Given the description of an element on the screen output the (x, y) to click on. 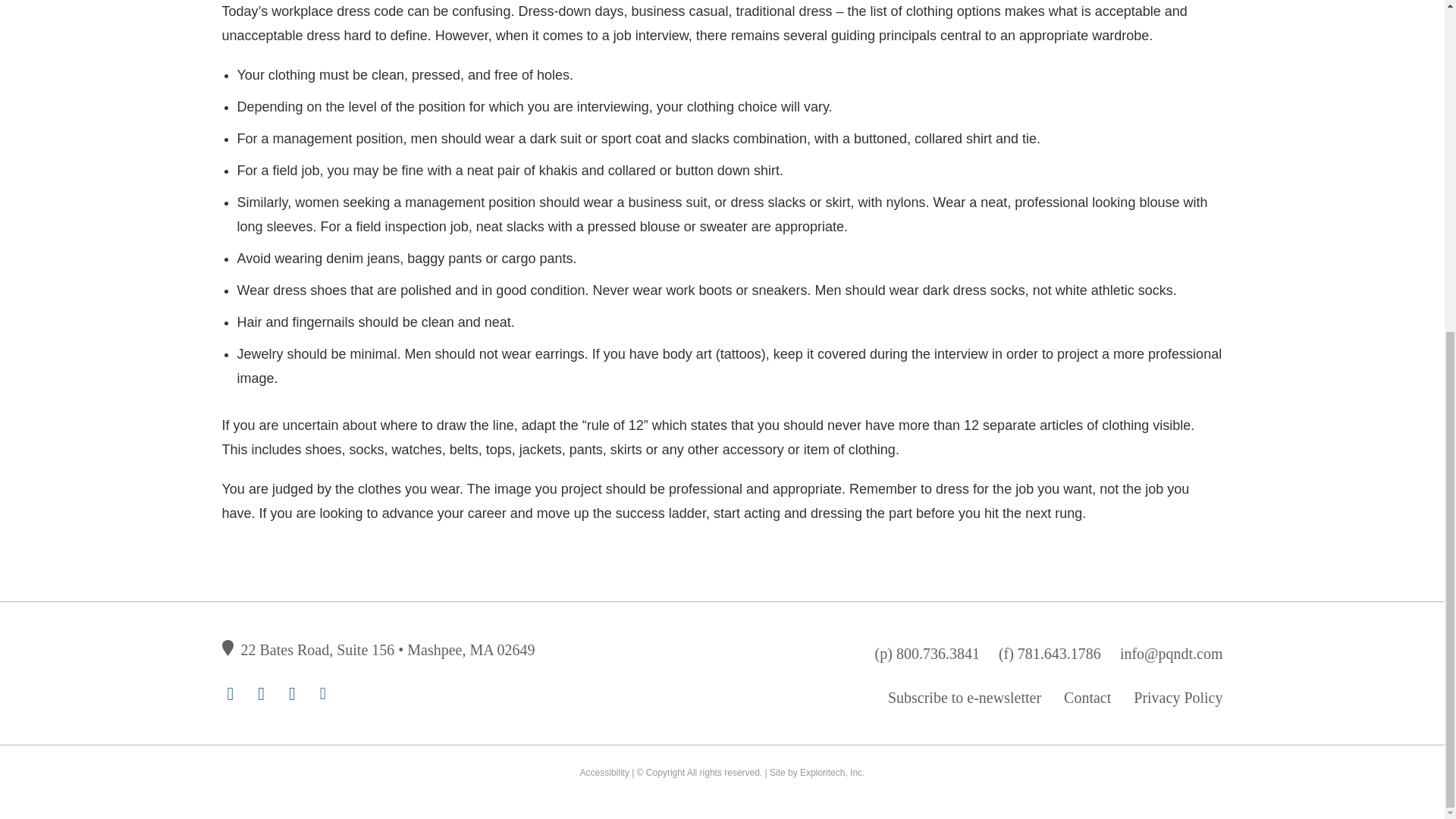
Accessibility (603, 772)
Subscribe to e-newsletter (964, 697)
Privacy Policy (1178, 697)
Contact (1087, 697)
Site by Exploritech, Inc. (817, 772)
800.736.3841 (937, 653)
